Given the description of an element on the screen output the (x, y) to click on. 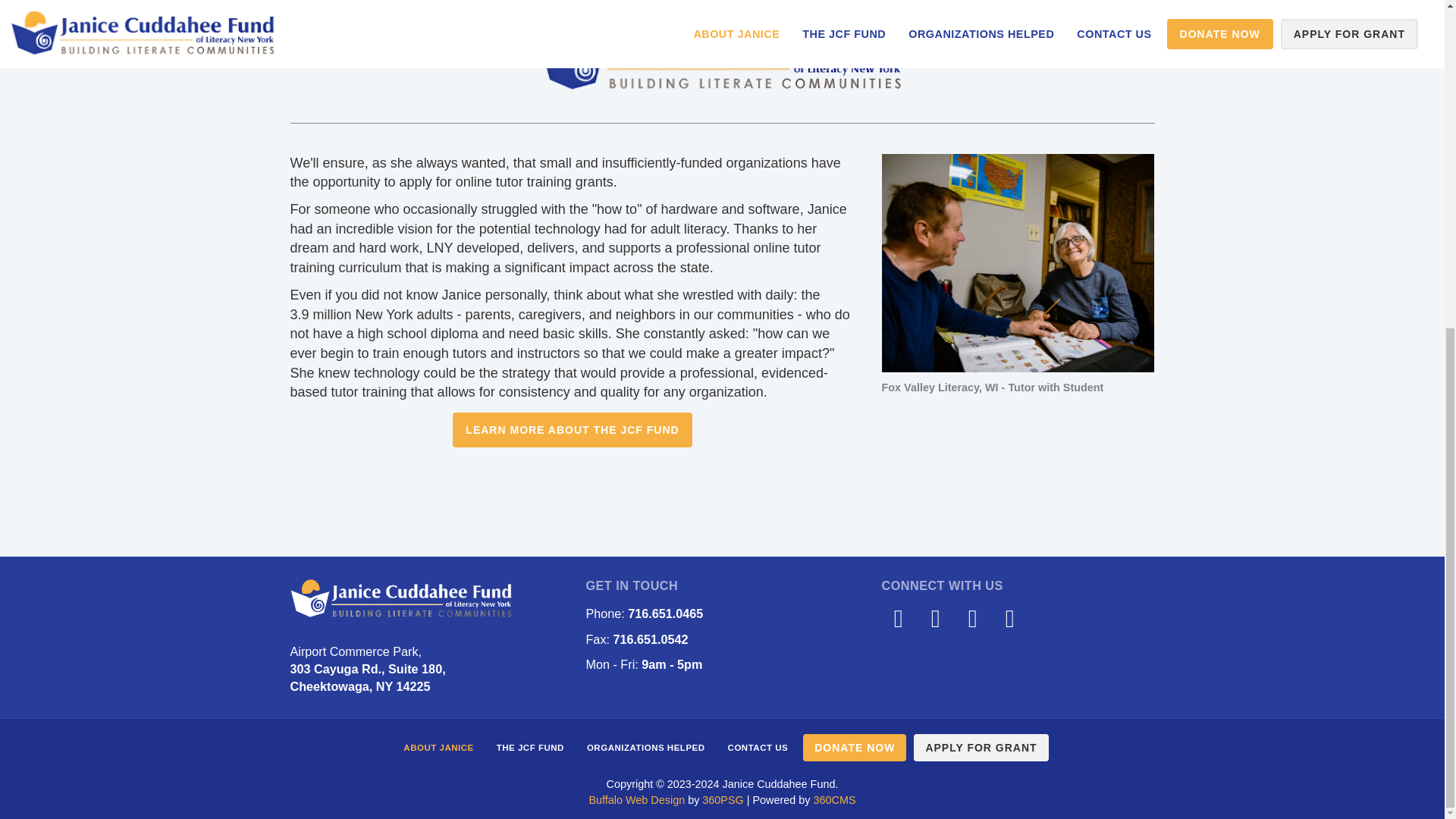
THE JCF FUND (529, 747)
DONATE NOW (854, 747)
CONTACT US (757, 747)
LEARN MORE ABOUT THE JCF FUND (571, 429)
716.651.0465 (665, 612)
ABOUT JANICE (437, 747)
APPLY FOR GRANT (981, 747)
Buffalo Web Design (636, 799)
360PSG (721, 799)
360CMS (834, 799)
ORGANIZATIONS HELPED (645, 747)
